Given the description of an element on the screen output the (x, y) to click on. 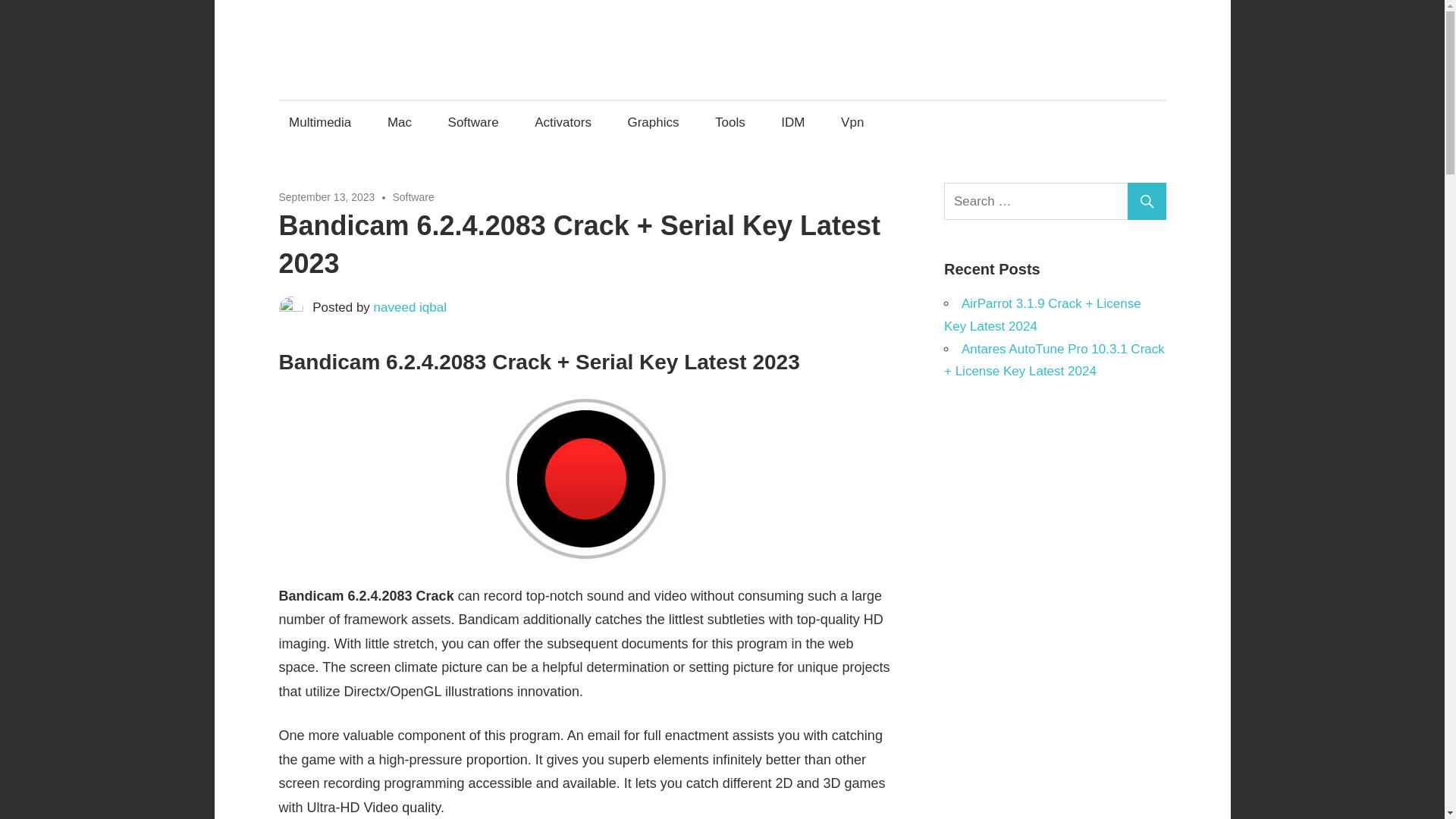
View all posts by naveed iqbal (410, 307)
Software (473, 121)
Vpn (853, 121)
Multimedia (320, 121)
Mac (399, 121)
Software (412, 196)
Activators (563, 121)
8:07 pm (327, 196)
naveed iqbal (410, 307)
IDM (793, 121)
